Given the description of an element on the screen output the (x, y) to click on. 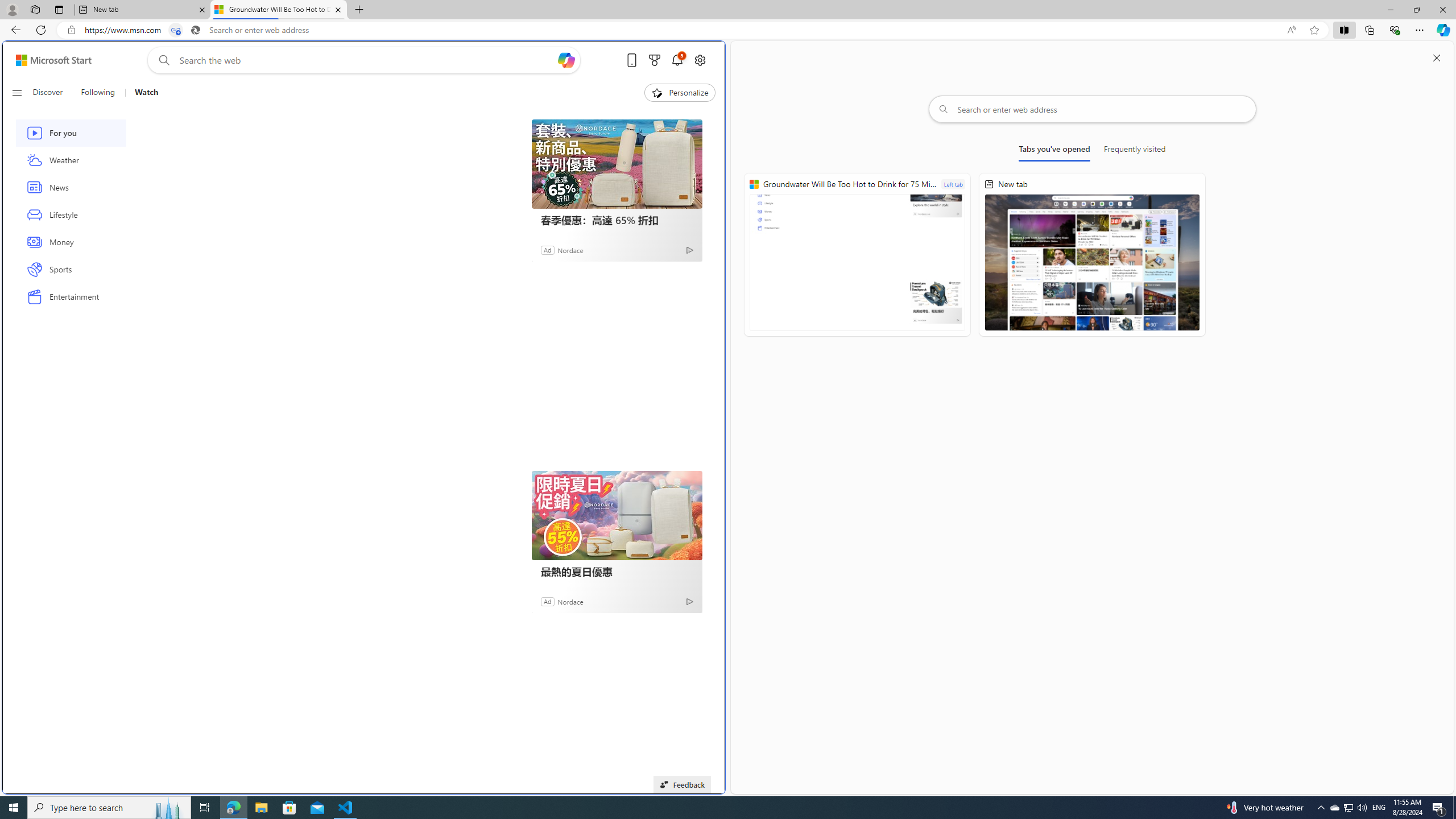
Open settings (699, 60)
Tabs in split screen (175, 29)
Personalize (679, 92)
Close split screen (1436, 57)
Enter your search term (366, 59)
